Given the description of an element on the screen output the (x, y) to click on. 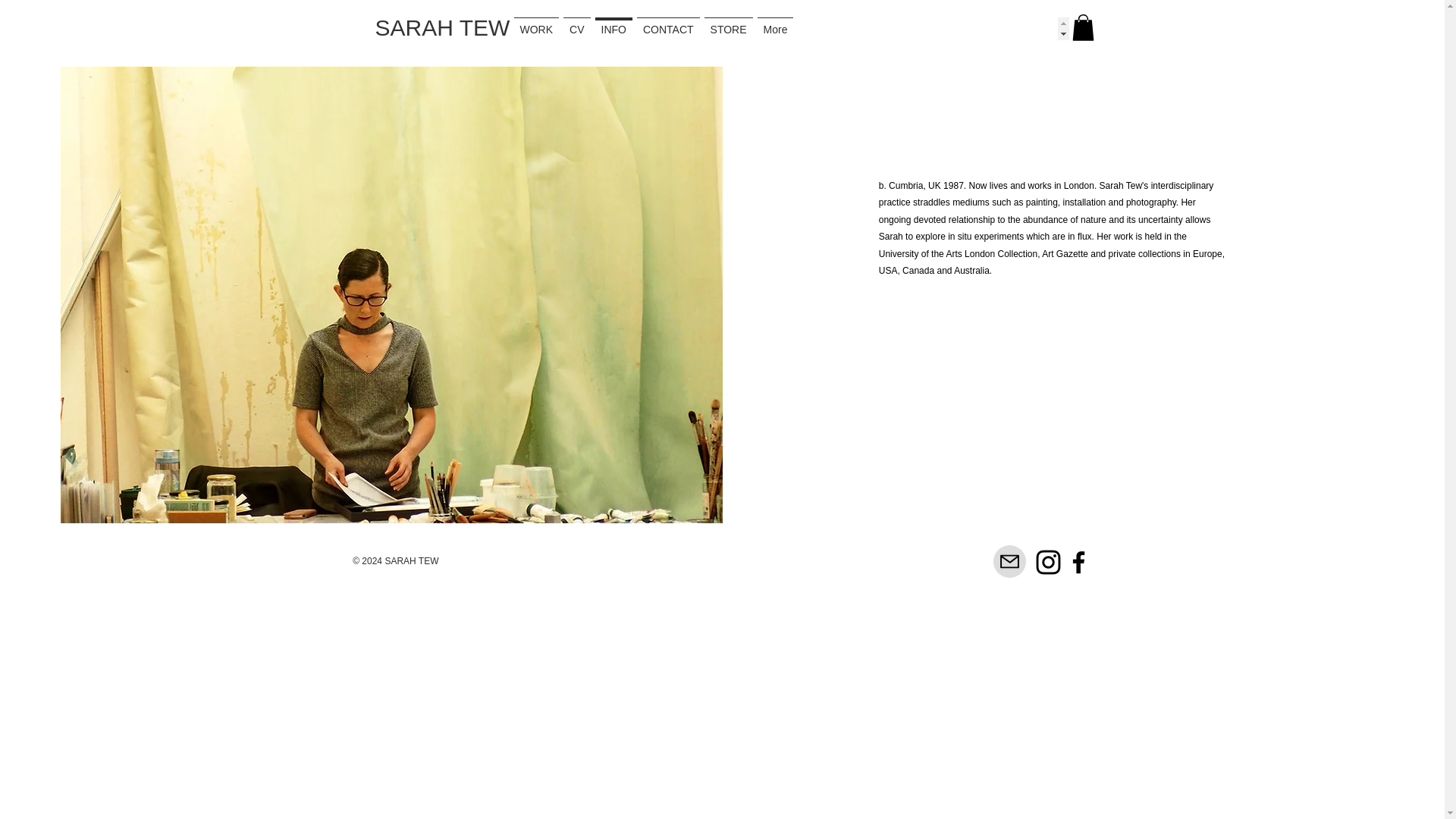
WORK (567, 28)
CV (671, 28)
SARAH TEW (441, 27)
CONTACT (890, 28)
STORE (1010, 28)
INFO (772, 28)
